Given the description of an element on the screen output the (x, y) to click on. 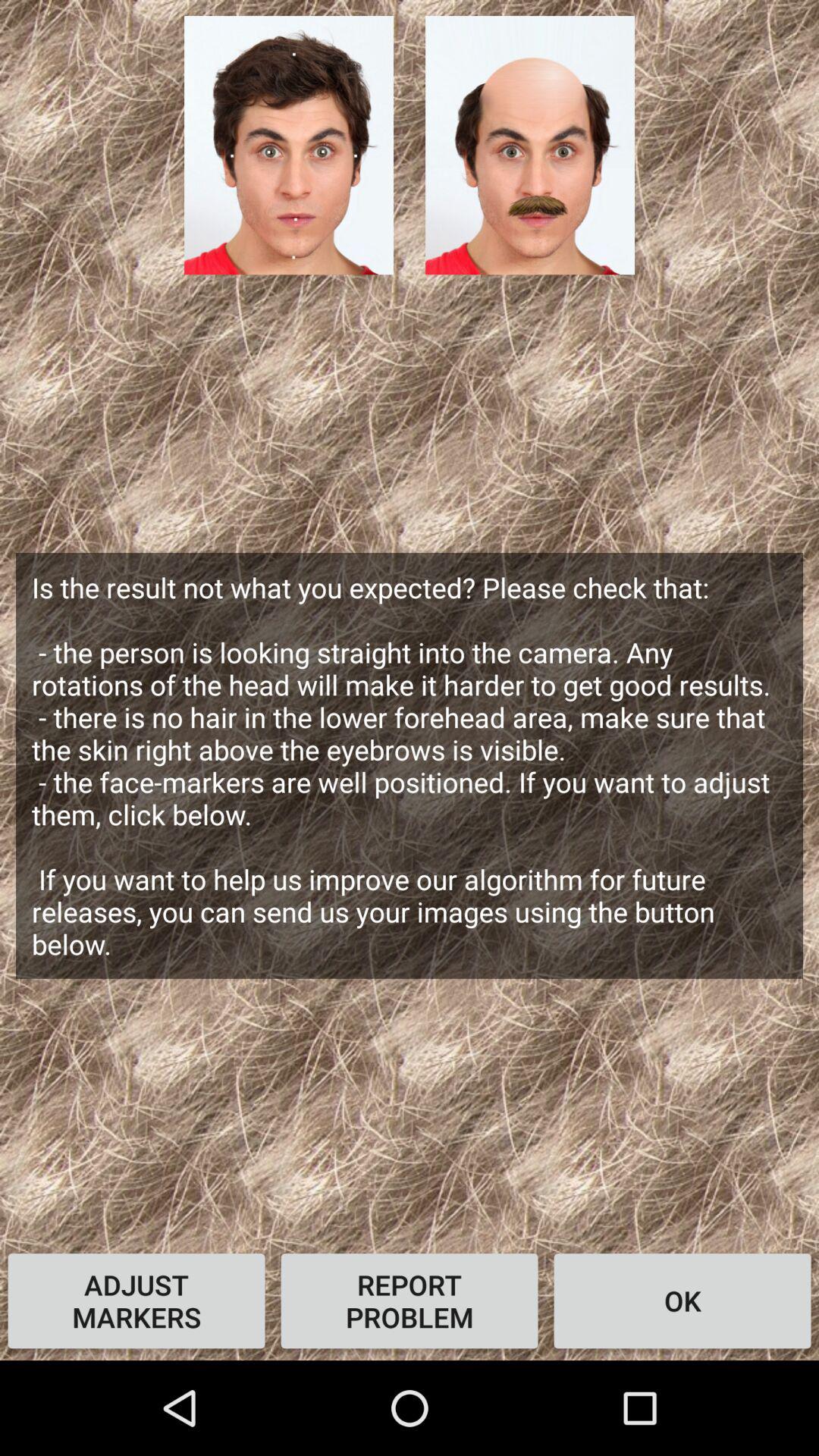
turn on adjust markers (136, 1300)
